Given the description of an element on the screen output the (x, y) to click on. 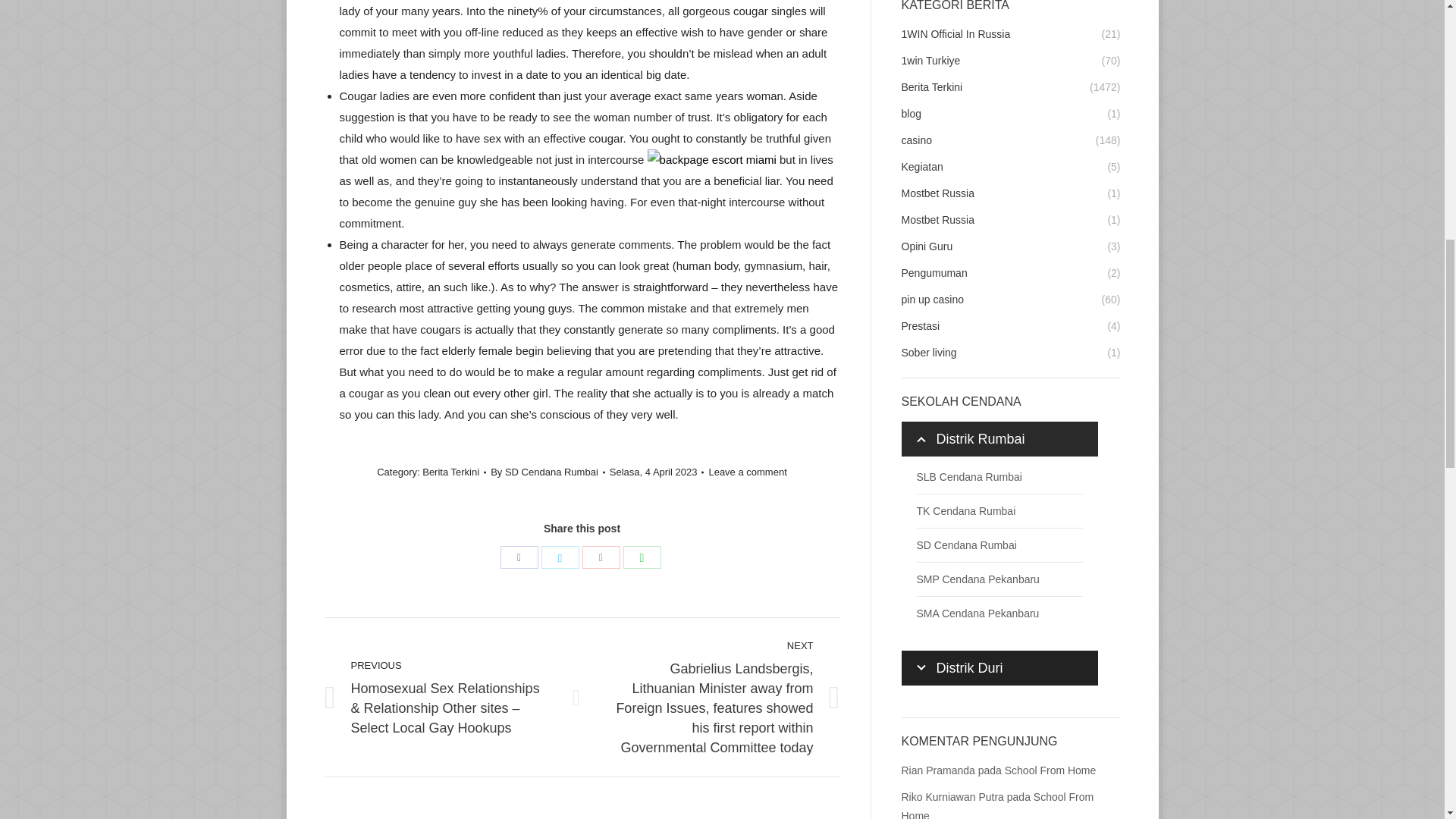
Twitter (560, 557)
WhatsApp (642, 557)
23:35 (657, 472)
View all posts by SD Cendana Rumbai (547, 472)
Facebook (519, 557)
